Given the description of an element on the screen output the (x, y) to click on. 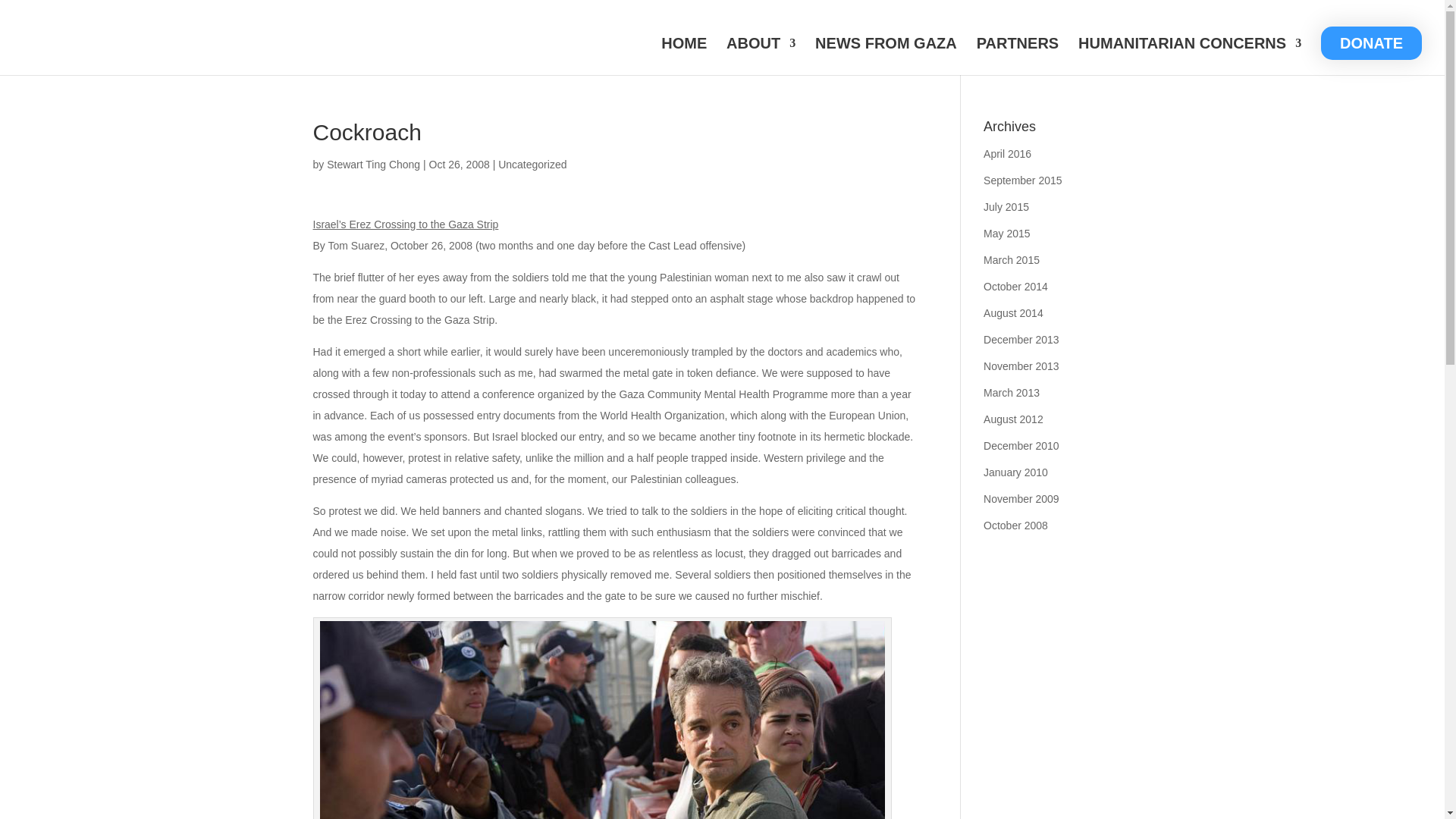
Uncategorized (531, 164)
HUMANITARIAN CONCERNS (1189, 56)
PARTNERS (1017, 56)
March 2015 (1011, 259)
NEWS FROM GAZA (885, 56)
August 2014 (1013, 313)
May 2015 (1006, 233)
DONATE (1371, 42)
November 2013 (1021, 366)
HOME (683, 56)
Posts by Stewart Ting Chong (373, 164)
October 2014 (1016, 286)
September 2015 (1023, 180)
Stewart Ting Chong (373, 164)
April 2016 (1007, 153)
